Given the description of an element on the screen output the (x, y) to click on. 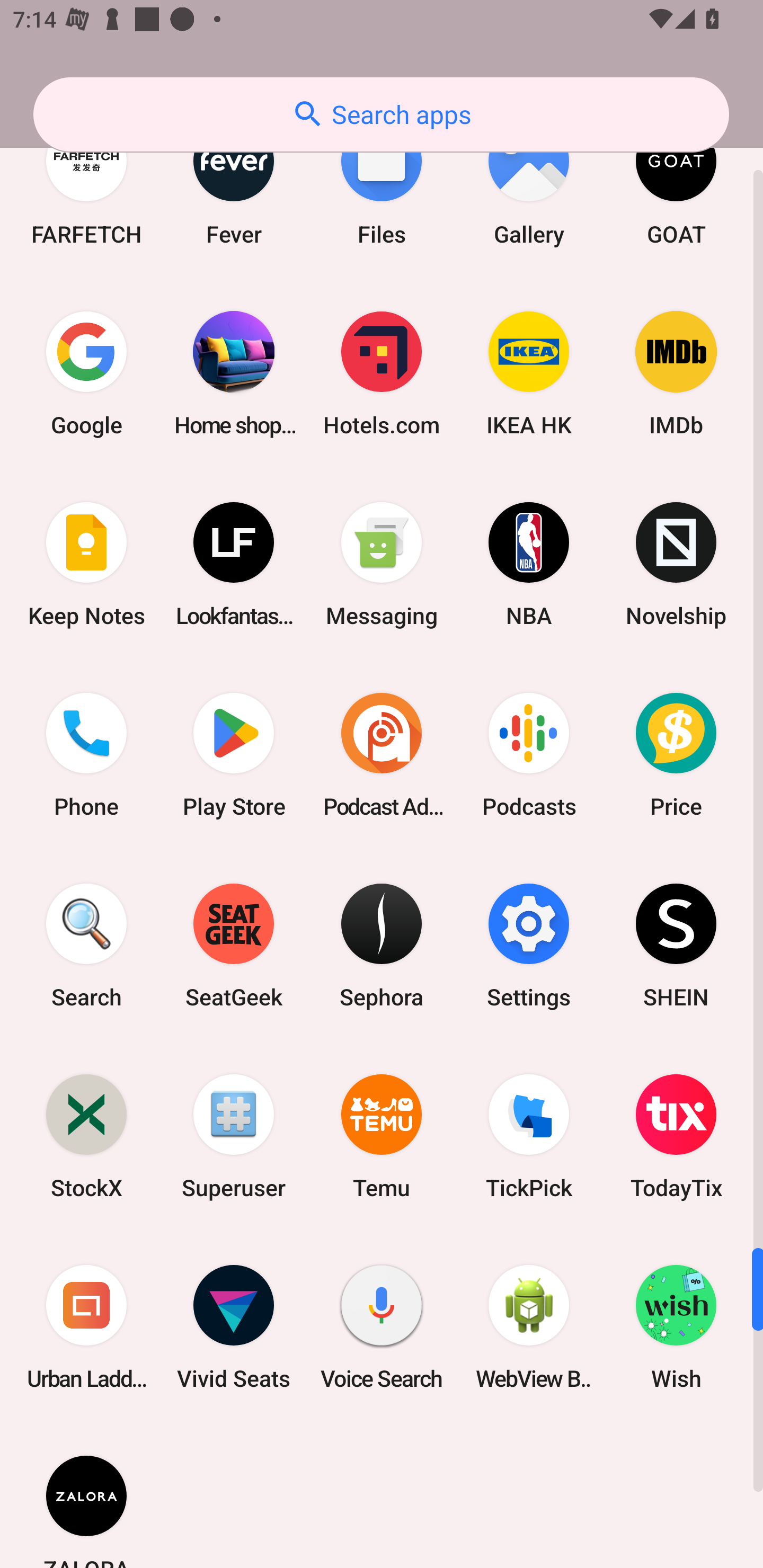
  Search apps (381, 114)
FARFETCH (86, 183)
Fever (233, 183)
Files (381, 183)
Gallery (528, 183)
GOAT (676, 183)
Google (86, 372)
Home shopping (233, 372)
Hotels.com (381, 372)
IKEA HK (528, 372)
IMDb (676, 372)
Keep Notes (86, 564)
Lookfantastic (233, 564)
Messaging (381, 564)
NBA (528, 564)
Novelship (676, 564)
Phone (86, 754)
Play Store (233, 754)
Podcast Addict (381, 754)
Podcasts (528, 754)
Price (676, 754)
Search (86, 945)
SeatGeek (233, 945)
Sephora (381, 945)
Settings (528, 945)
SHEIN (676, 945)
StockX (86, 1135)
Superuser (233, 1135)
Temu (381, 1135)
TickPick (528, 1135)
TodayTix (676, 1135)
Urban Ladder (86, 1326)
Vivid Seats (233, 1326)
Voice Search (381, 1326)
WebView Browser Tester (528, 1326)
Wish (676, 1326)
ZALORA (86, 1495)
